Given the description of an element on the screen output the (x, y) to click on. 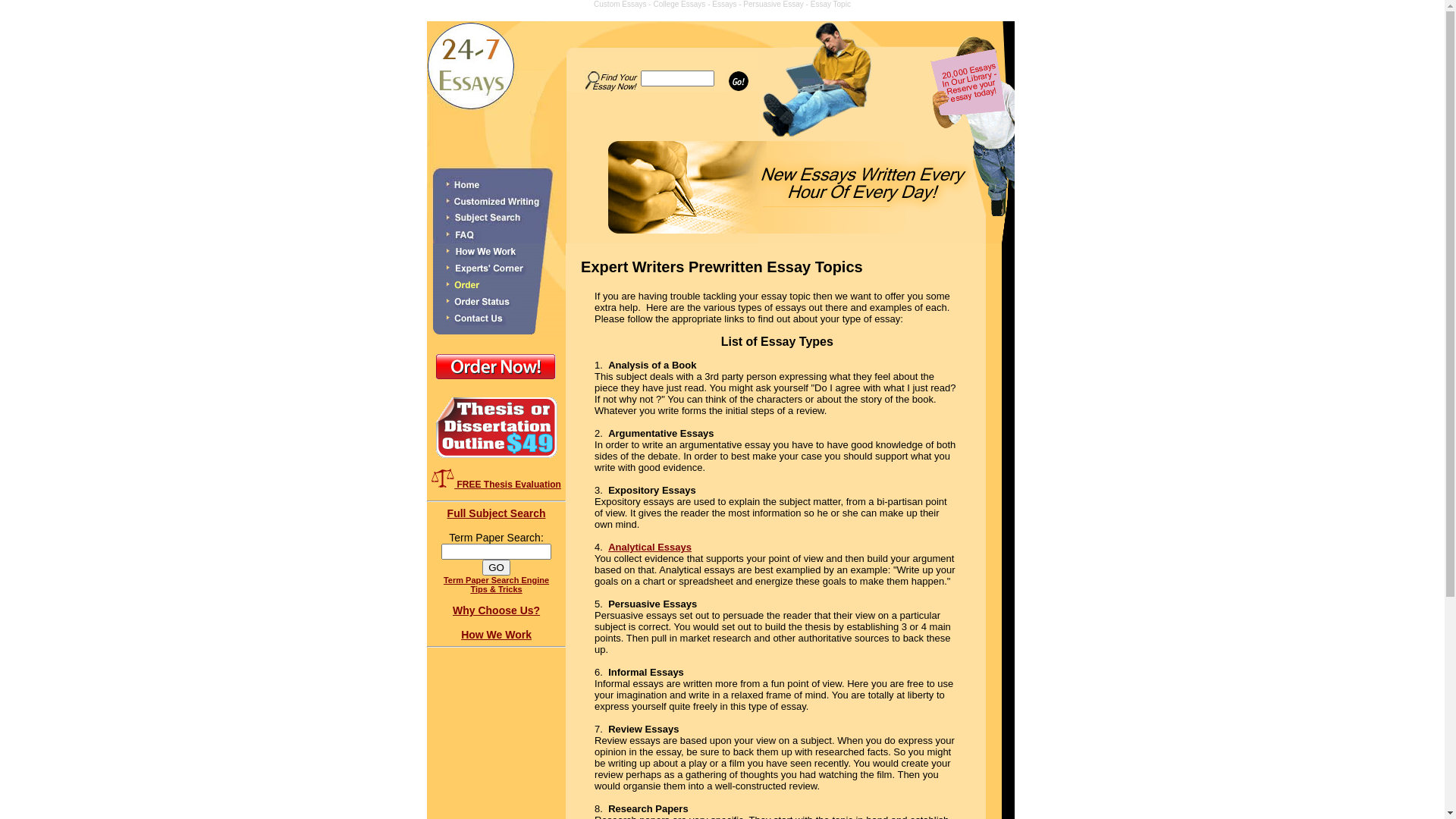
How We Work Element type: hover (495, 646)
Why Choose Us? Element type: text (495, 610)
Term Paper Search Engine
Tips & Tricks Element type: text (496, 584)
Analytical Essays Element type: text (649, 546)
FREE Thesis Evaluation Element type: text (496, 484)
FREE Thesis Evaluation Element type: hover (442, 477)
Order Now! Element type: hover (496, 382)
GO Element type: text (496, 567)
How We Work Element type: text (496, 634)
Full Subject Search Element type: text (496, 513)
